Given the description of an element on the screen output the (x, y) to click on. 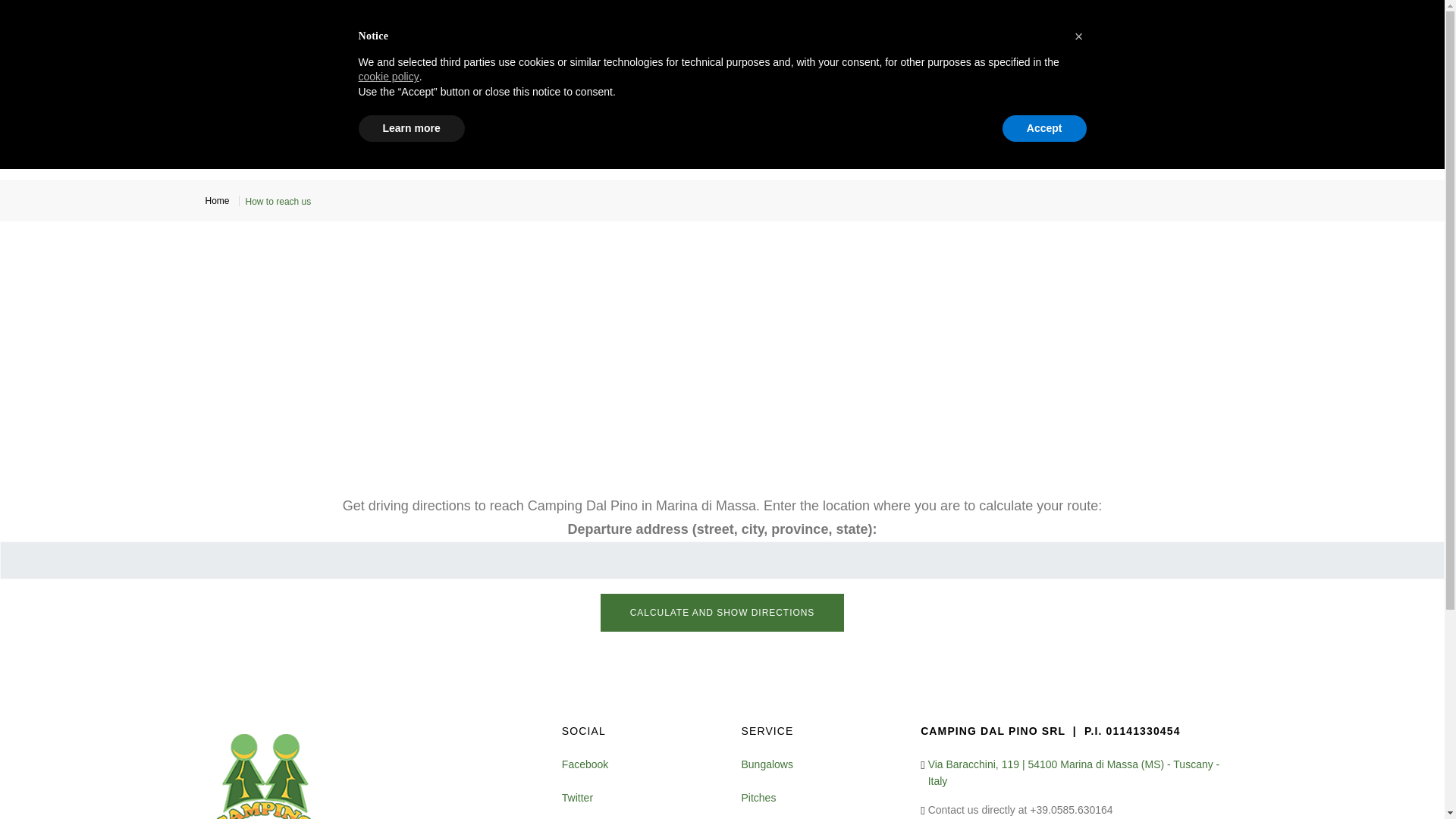
Inglese (855, 19)
Tedesco (904, 19)
Twitter (577, 797)
Contacts (936, 108)
CONTACTS (936, 108)
Spagnolo (929, 19)
Francese (880, 19)
How to reach us (826, 108)
Camping (515, 108)
Facebook (585, 764)
CAMPING 3 STELLE (277, 107)
CALCULATE AND SHOW DIRECTIONS (721, 612)
Pitches (758, 797)
HOME (450, 108)
Prices (598, 108)
